Given the description of an element on the screen output the (x, y) to click on. 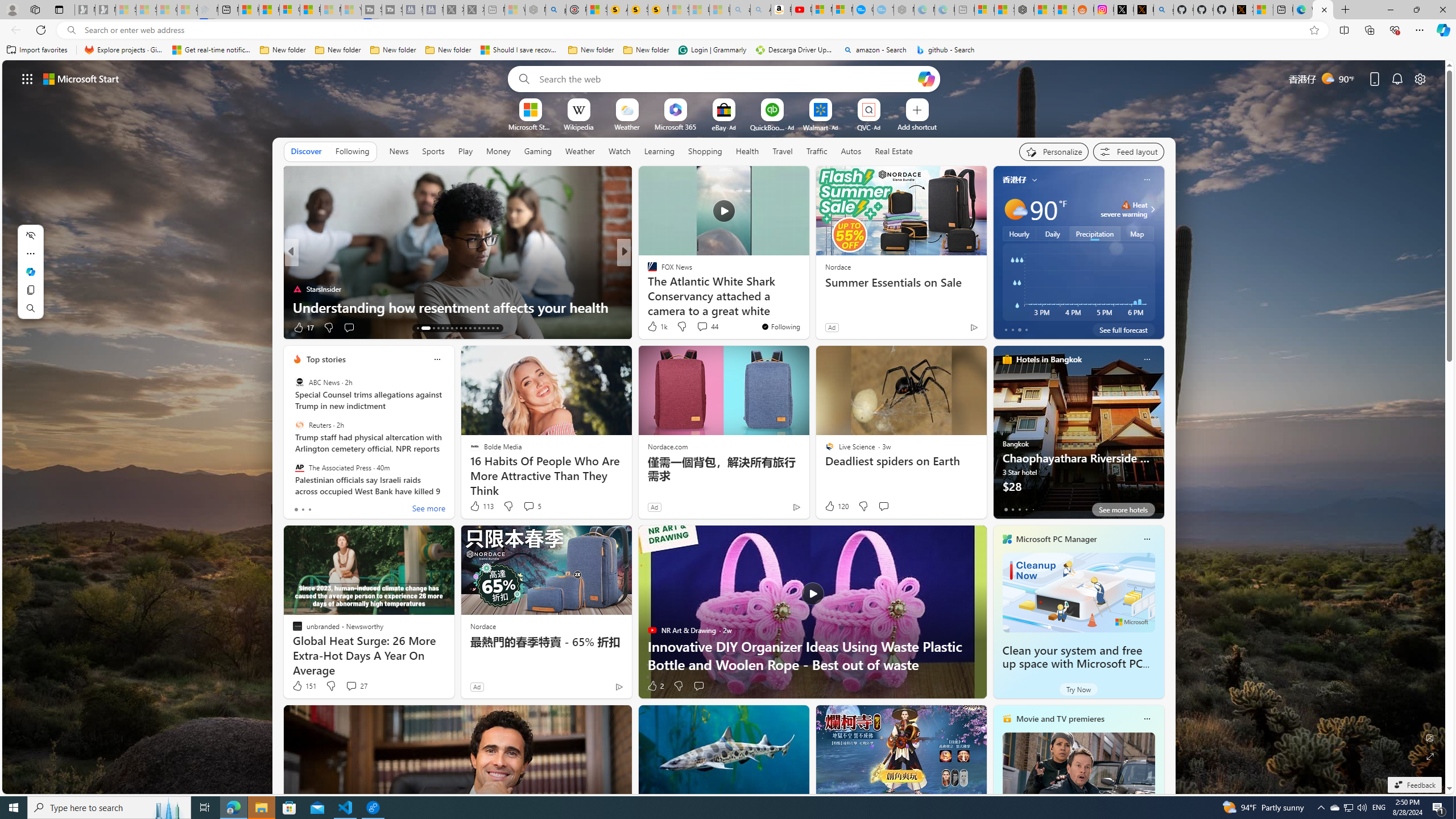
Notifications (1397, 78)
View comments 1 Comment (705, 327)
Weather (579, 151)
AutomationID: tab-27 (488, 328)
CNBC (647, 270)
Money (497, 151)
33 Like (652, 327)
Wikipedia (578, 126)
